Given the description of an element on the screen output the (x, y) to click on. 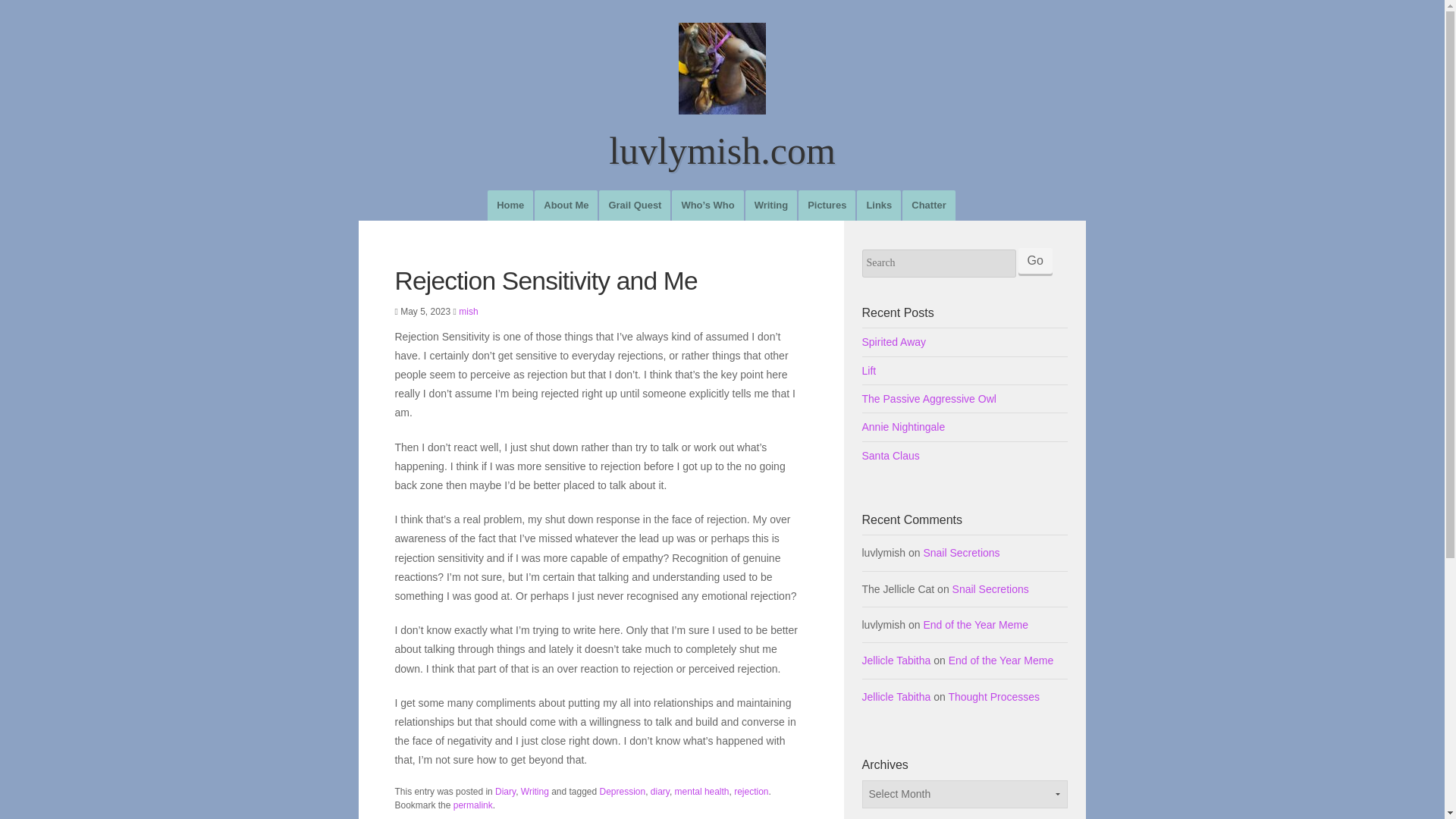
permalink (472, 805)
End of the Year Meme (1001, 660)
About Me (565, 205)
Annie Nightingale (964, 426)
luvlymish.com (722, 117)
Links (879, 205)
Writing (534, 791)
rejection (750, 791)
Home (510, 205)
Snail Secretions (960, 552)
Chatter (928, 205)
mish (467, 311)
Grail Quest (633, 205)
Depression (622, 791)
Snail Secretions (990, 589)
